Given the description of an element on the screen output the (x, y) to click on. 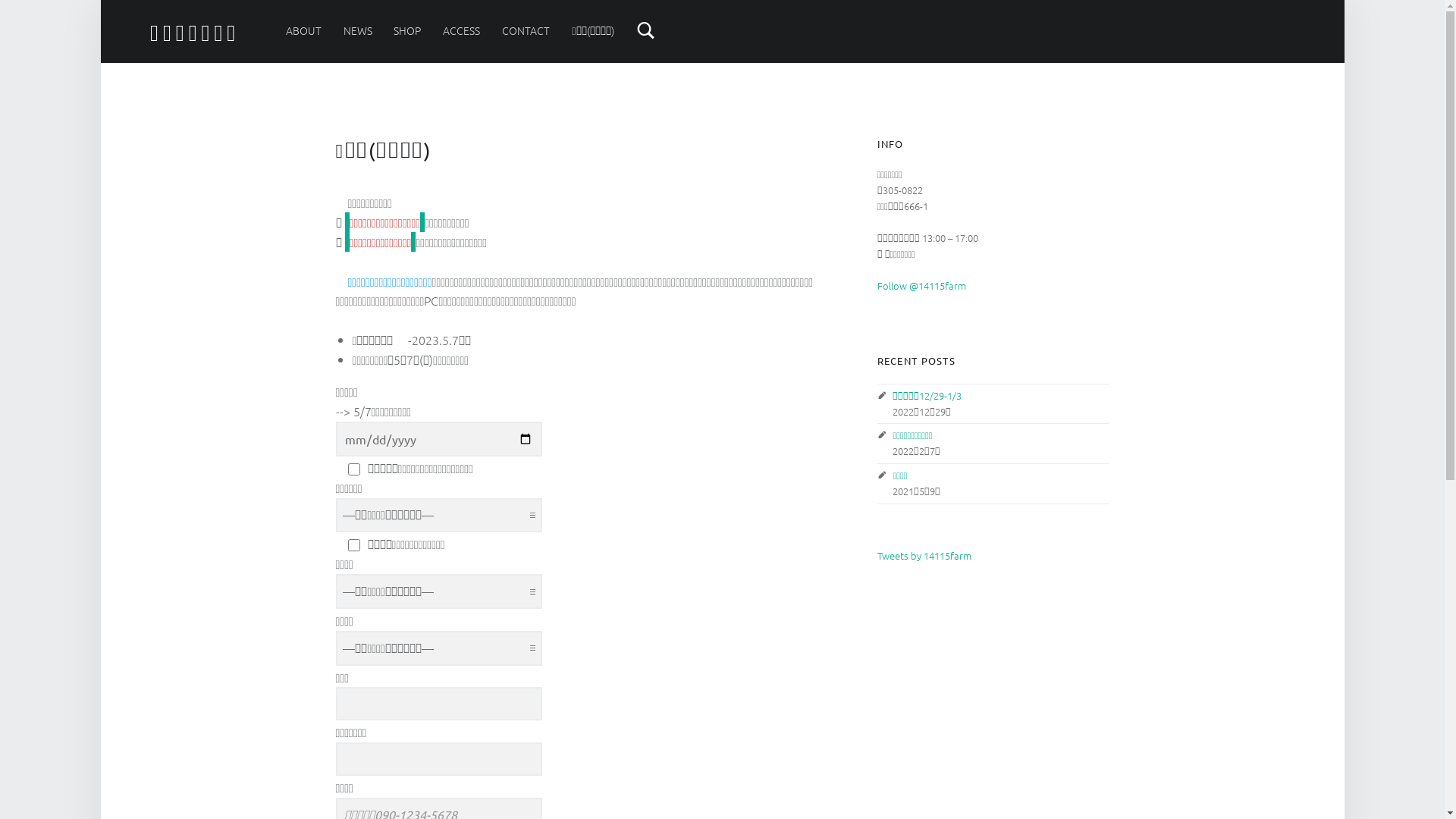
Tweets by 14115farm Element type: text (923, 555)
ACCESS Element type: text (461, 30)
NEWS Element type: text (357, 30)
Search Element type: text (645, 30)
SHOP Element type: text (406, 30)
CONTACT Element type: text (525, 30)
ABOUT Element type: text (303, 30)
Follow @14115farm Element type: text (920, 285)
